Given the description of an element on the screen output the (x, y) to click on. 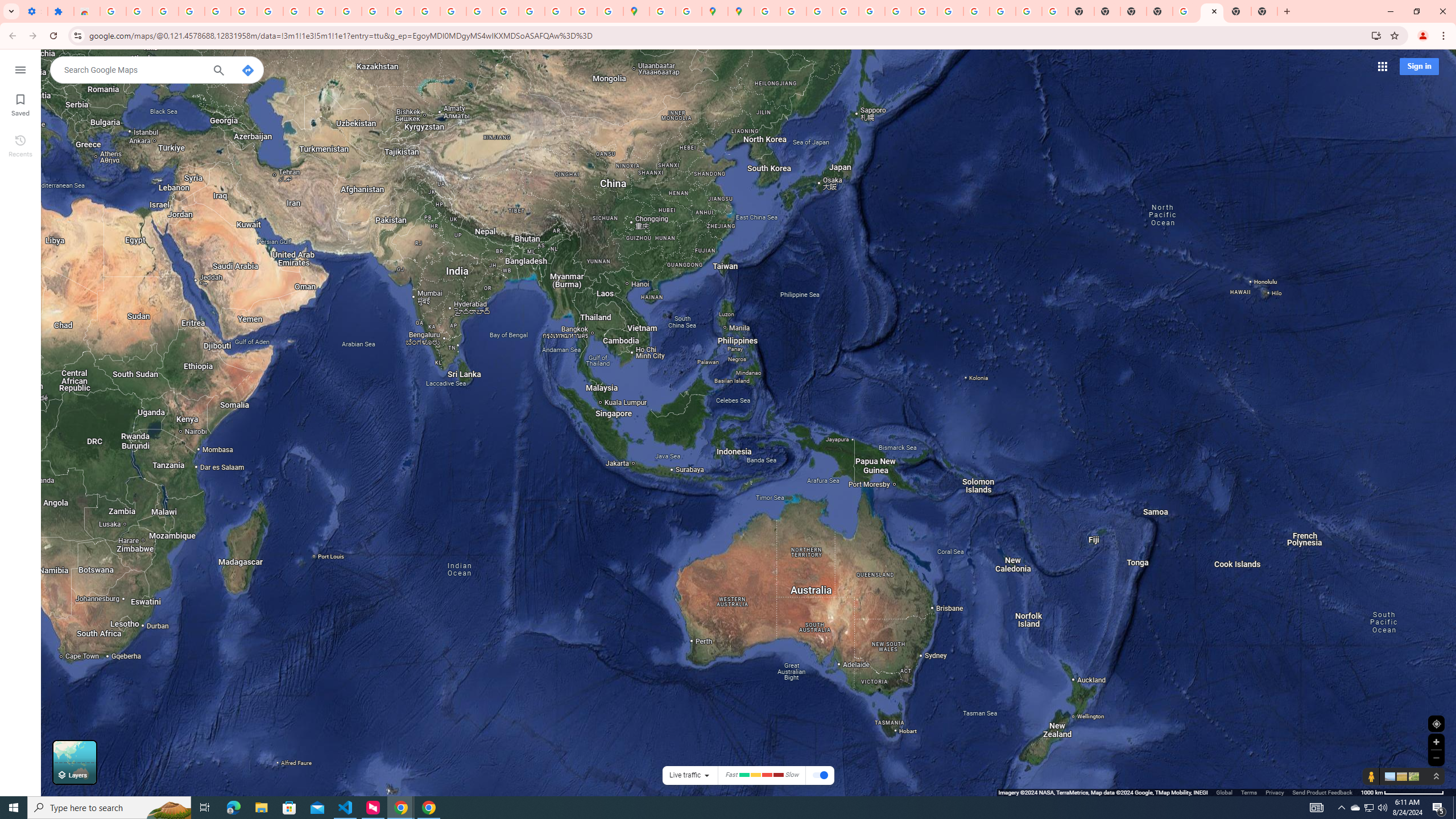
1000 km (1401, 792)
Zoom in (1436, 741)
Delete photos & videos - Computer - Google Photos Help (138, 11)
YouTube (897, 11)
Google Maps (1211, 11)
Privacy Help Center - Policies Help (792, 11)
